Given the description of an element on the screen output the (x, y) to click on. 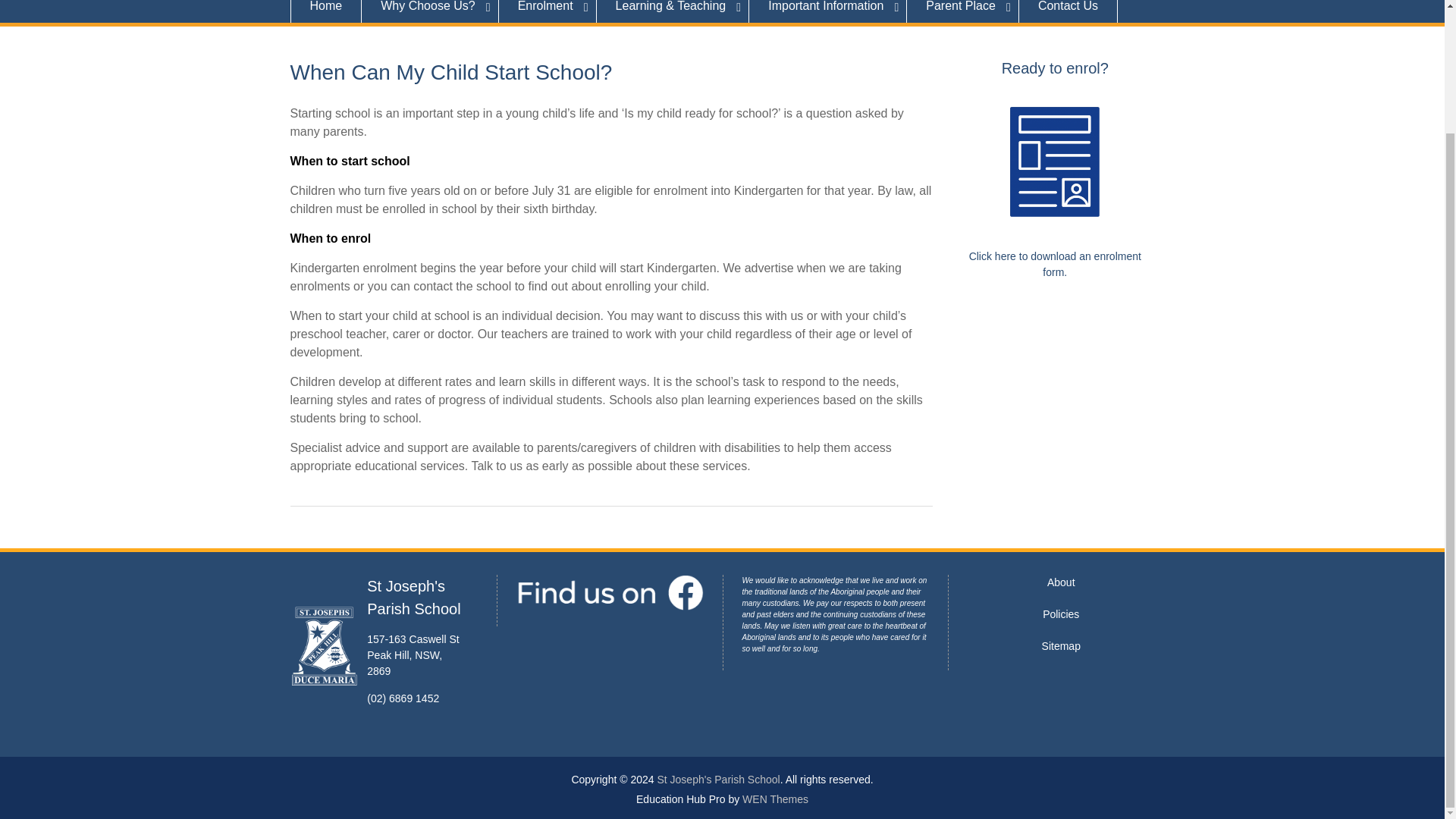
Why Choose Us? (430, 11)
Parent Place (963, 11)
Important Information (828, 11)
Enrolment (547, 11)
Home (325, 11)
